Given the description of an element on the screen output the (x, y) to click on. 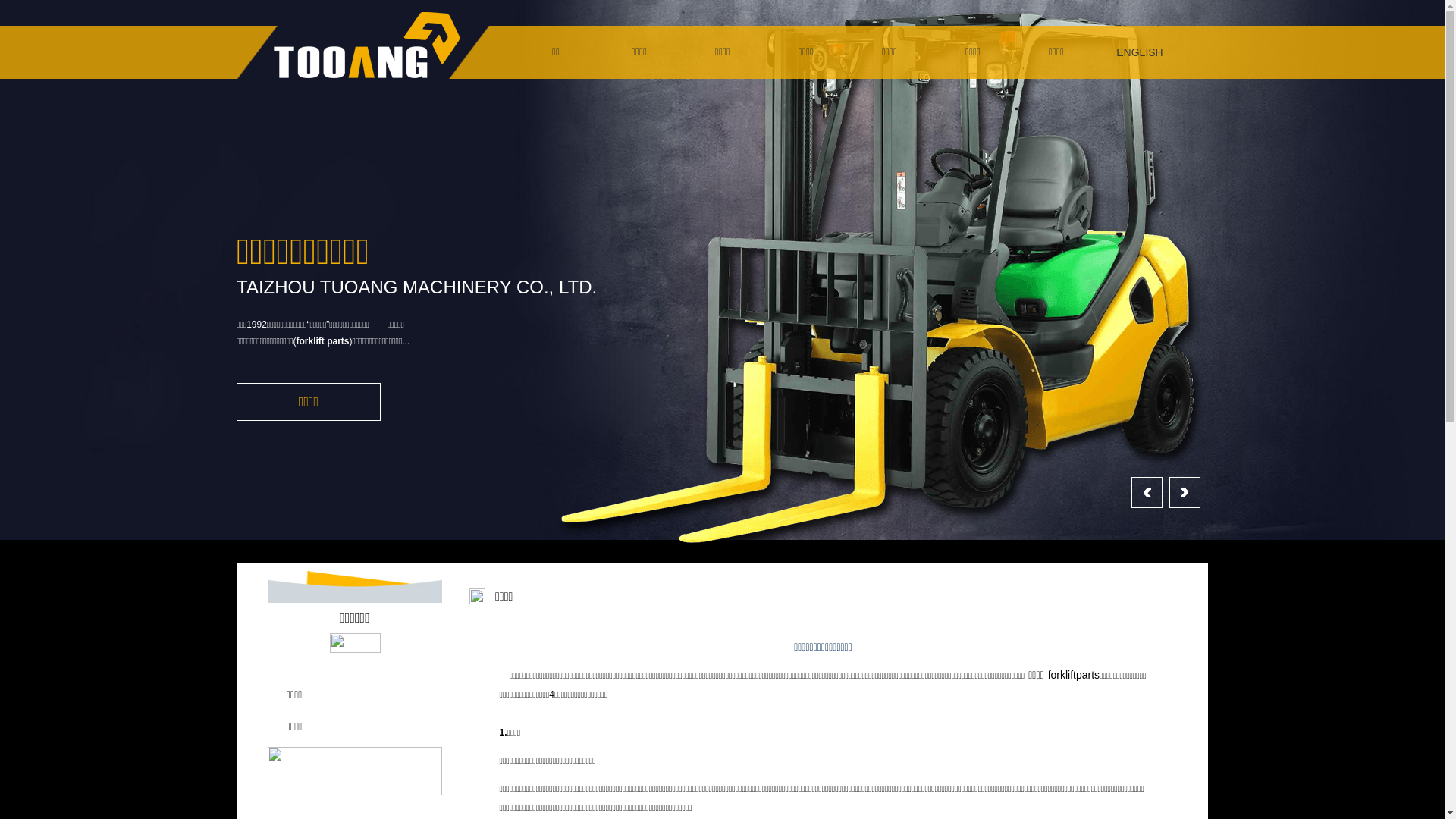
forkliftparts Element type: text (1073, 674)
ENGLISH Element type: text (1139, 51)
forklift parts Element type: text (322, 340)
